Given the description of an element on the screen output the (x, y) to click on. 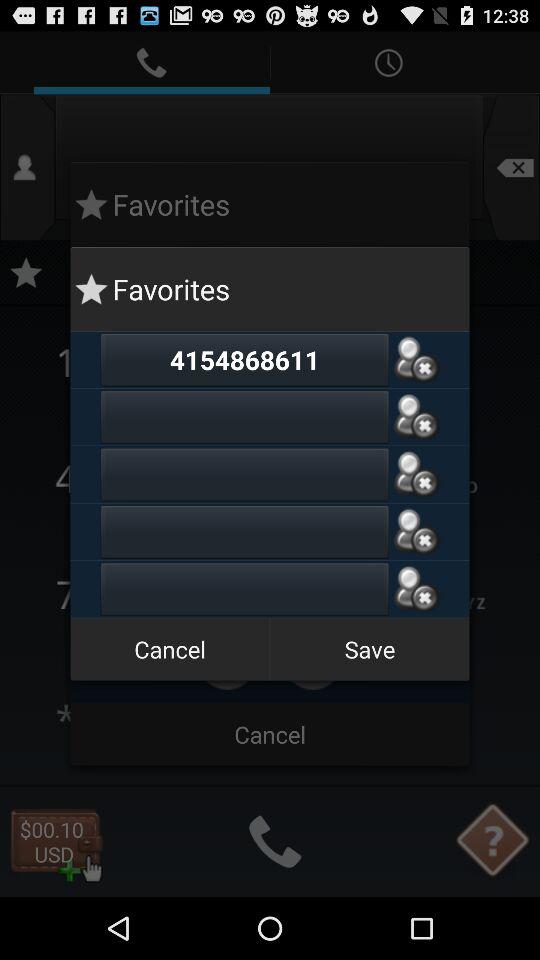
add contact to favorites (416, 474)
